Given the description of an element on the screen output the (x, y) to click on. 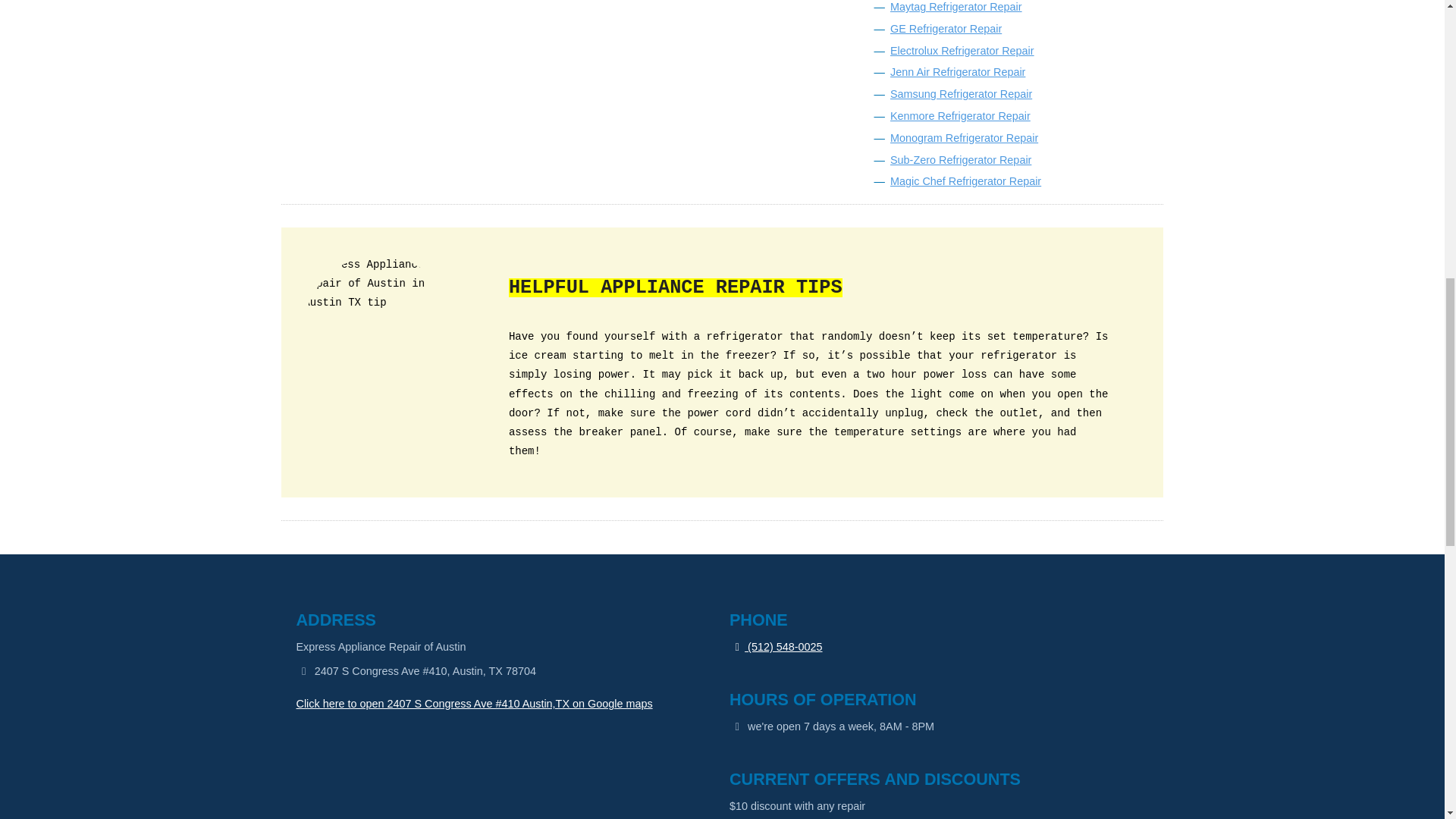
Maytag Refrigerator Repair (955, 6)
Kenmore Refrigerator Repair (959, 115)
Magic Chef Refrigerator Repair (965, 181)
Monogram Refrigerator Repair (963, 137)
Samsung Refrigerator Repair (960, 93)
Electrolux Refrigerator Repair (961, 50)
GE Refrigerator Repair (945, 28)
Sub-Zero Refrigerator Repair (959, 159)
Jenn Air Refrigerator Repair (957, 71)
